Given the description of an element on the screen output the (x, y) to click on. 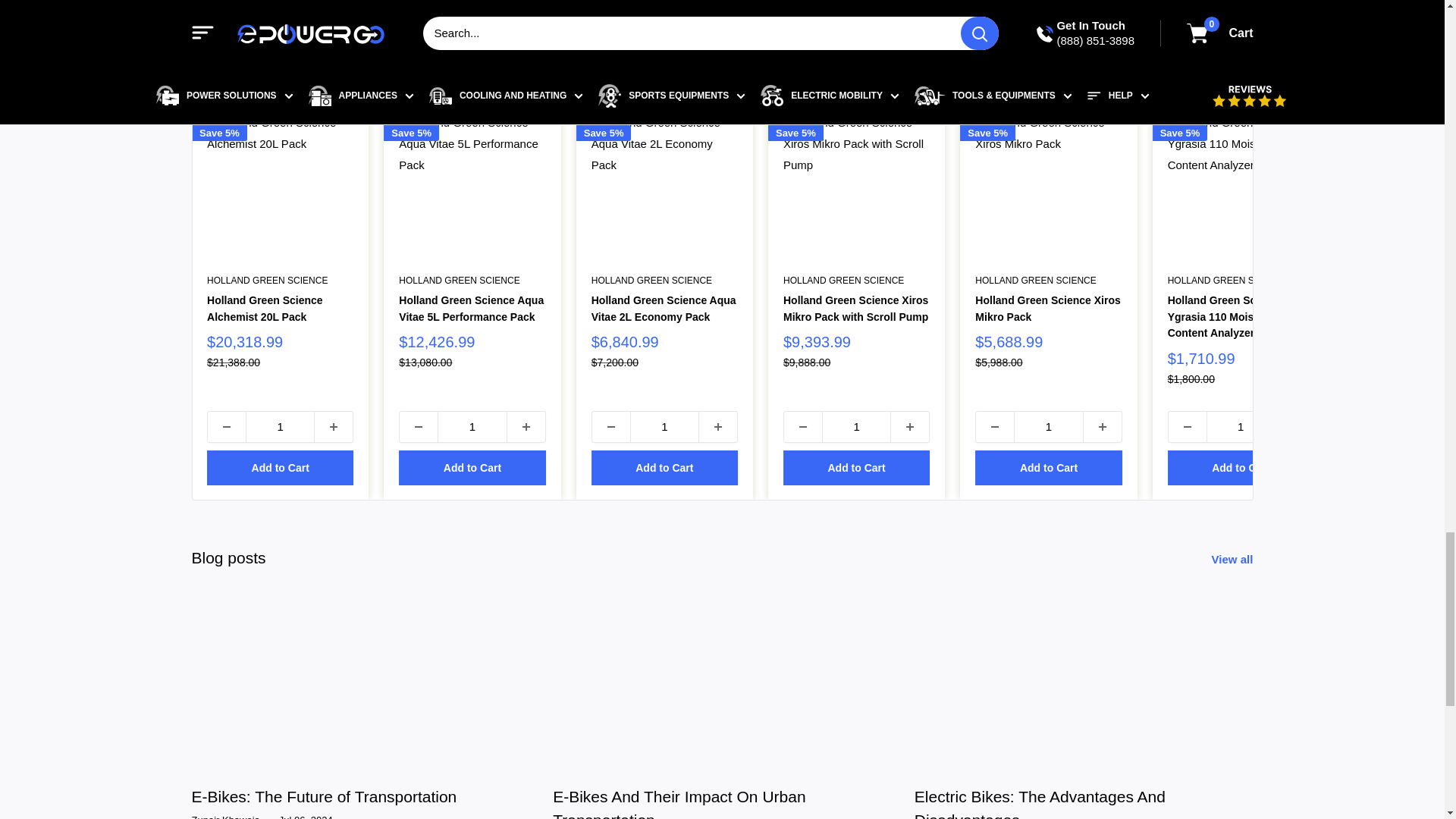
1 (856, 426)
1 (471, 426)
1 (1240, 426)
1 (1047, 426)
1 (663, 426)
1 (280, 426)
